Given the description of an element on the screen output the (x, y) to click on. 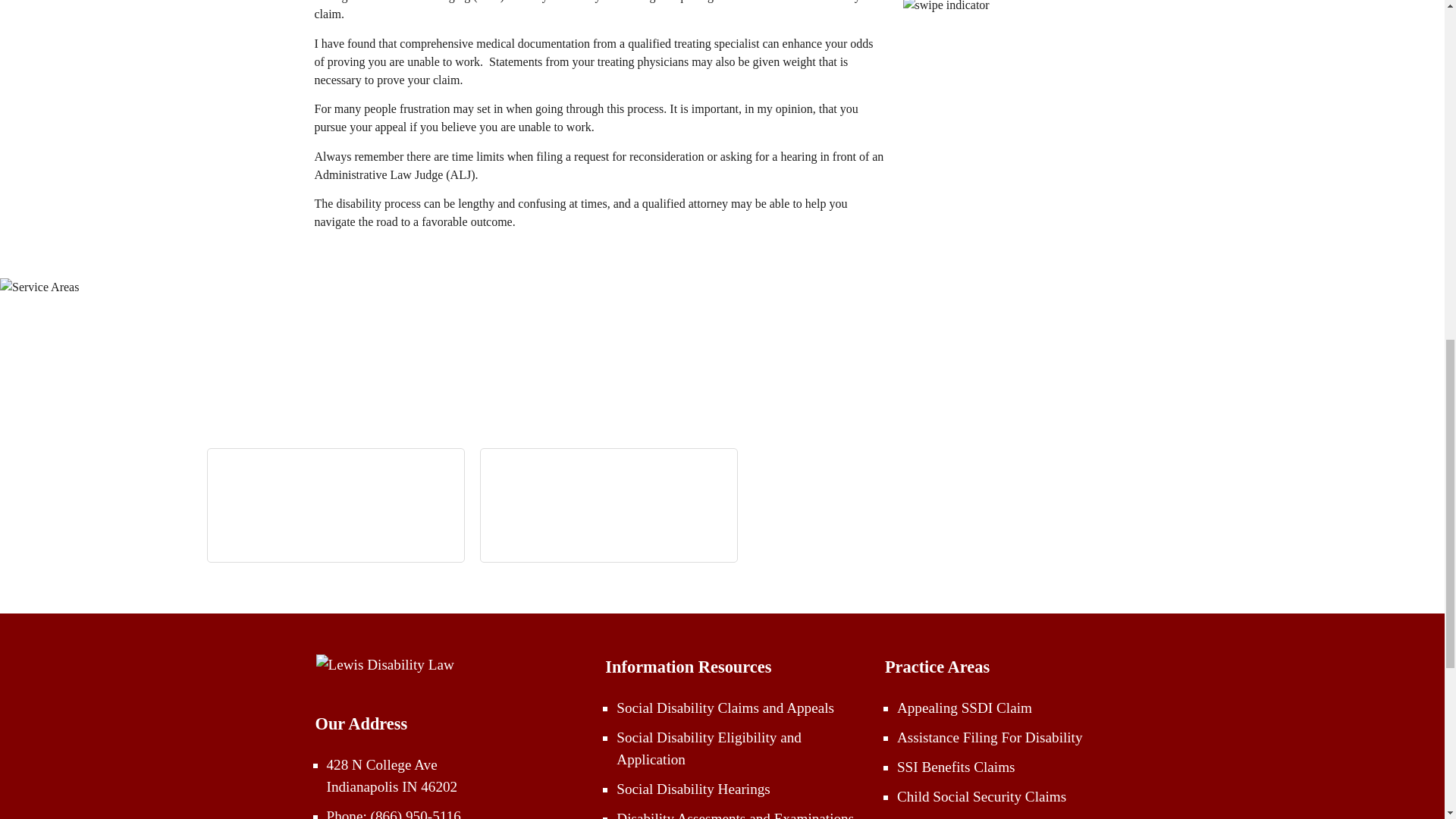
Social Disability Hearings (692, 788)
Social Disability Claims and Appeals (724, 707)
Social Disability Eligibility and Application (708, 748)
